Given the description of an element on the screen output the (x, y) to click on. 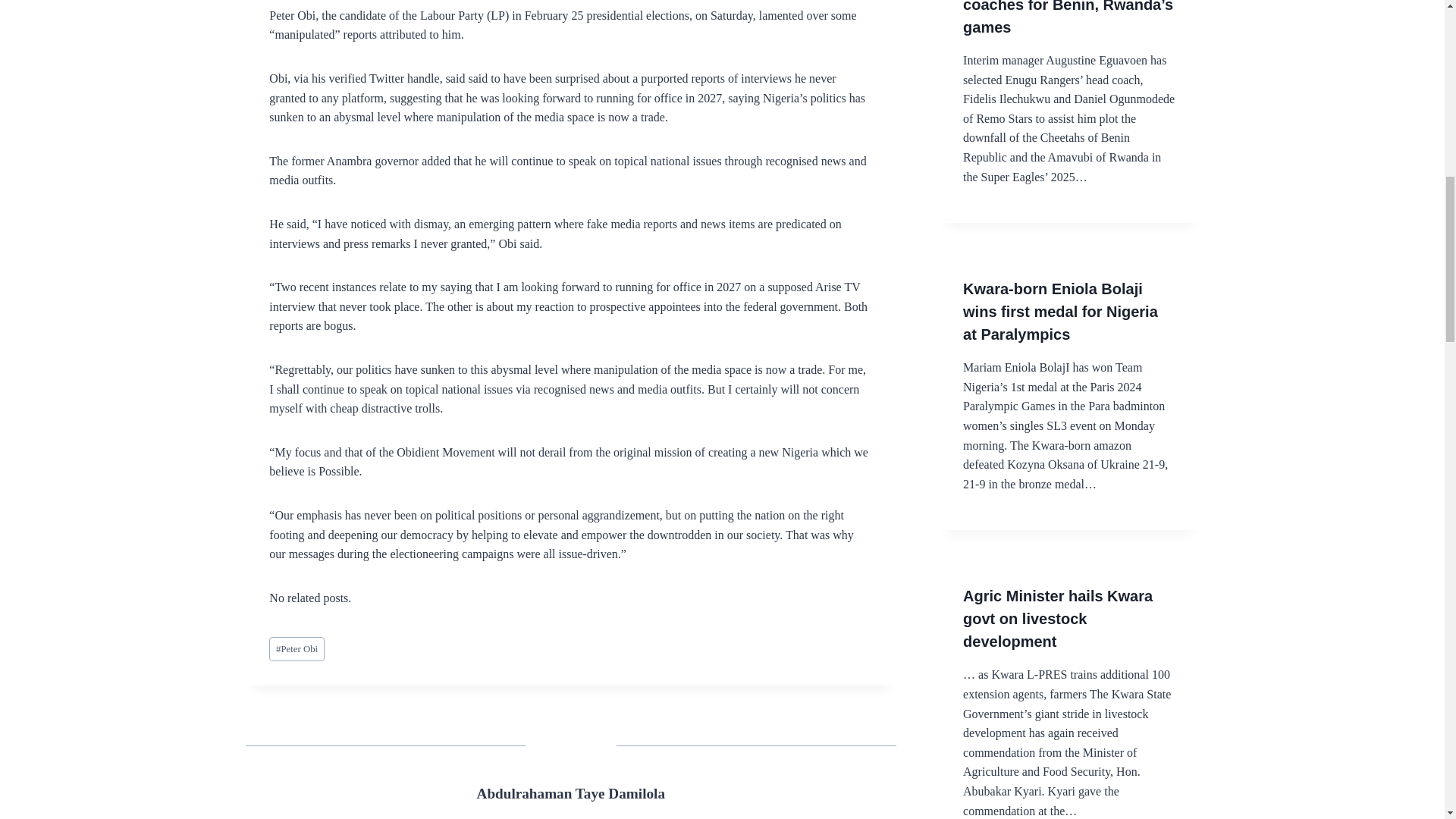
Posts by Abdulrahaman Taye Damilola (571, 793)
Abdulrahaman Taye Damilola (571, 793)
Peter Obi (296, 649)
